Given the description of an element on the screen output the (x, y) to click on. 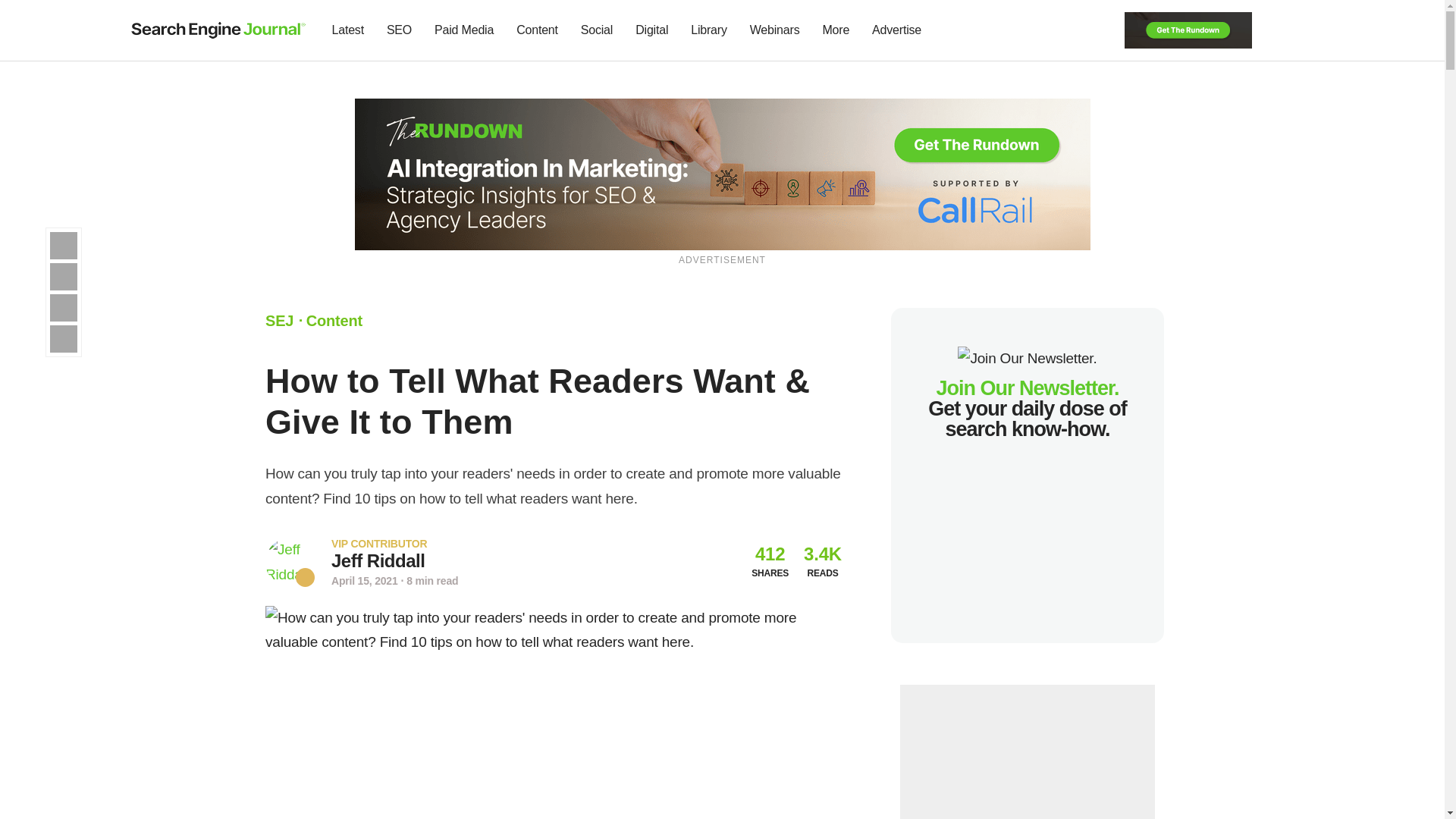
Go to Author Page (378, 560)
Paid Media (464, 30)
Subscribe to our Newsletter (1277, 30)
Get The Rundown (722, 172)
Go to Author Page (289, 562)
Get The Rundown (1187, 28)
Latest (347, 30)
